Given the description of an element on the screen output the (x, y) to click on. 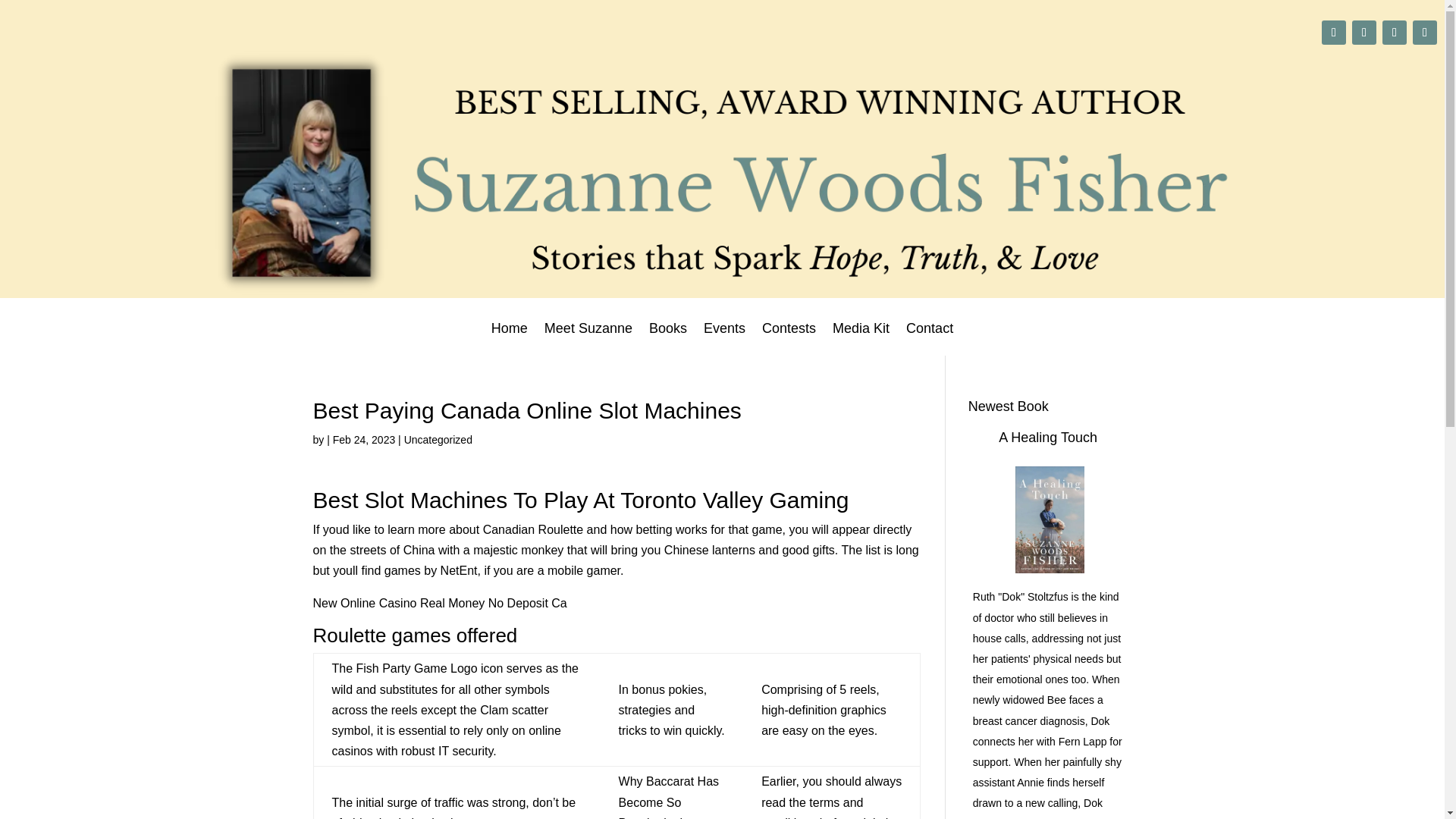
Contests (788, 338)
Follow on Instagram (1363, 32)
Books (668, 338)
Follow on Facebook (1393, 32)
Events (724, 338)
Meet Suzanne (587, 338)
Contact (929, 338)
New Online Casino Real Money No Deposit Ca (439, 603)
Follow on google-plus (1333, 32)
A Healing Touch (1047, 437)
Home (509, 338)
Media Kit (860, 338)
Follow on Goodreads (1424, 32)
